Given the description of an element on the screen output the (x, y) to click on. 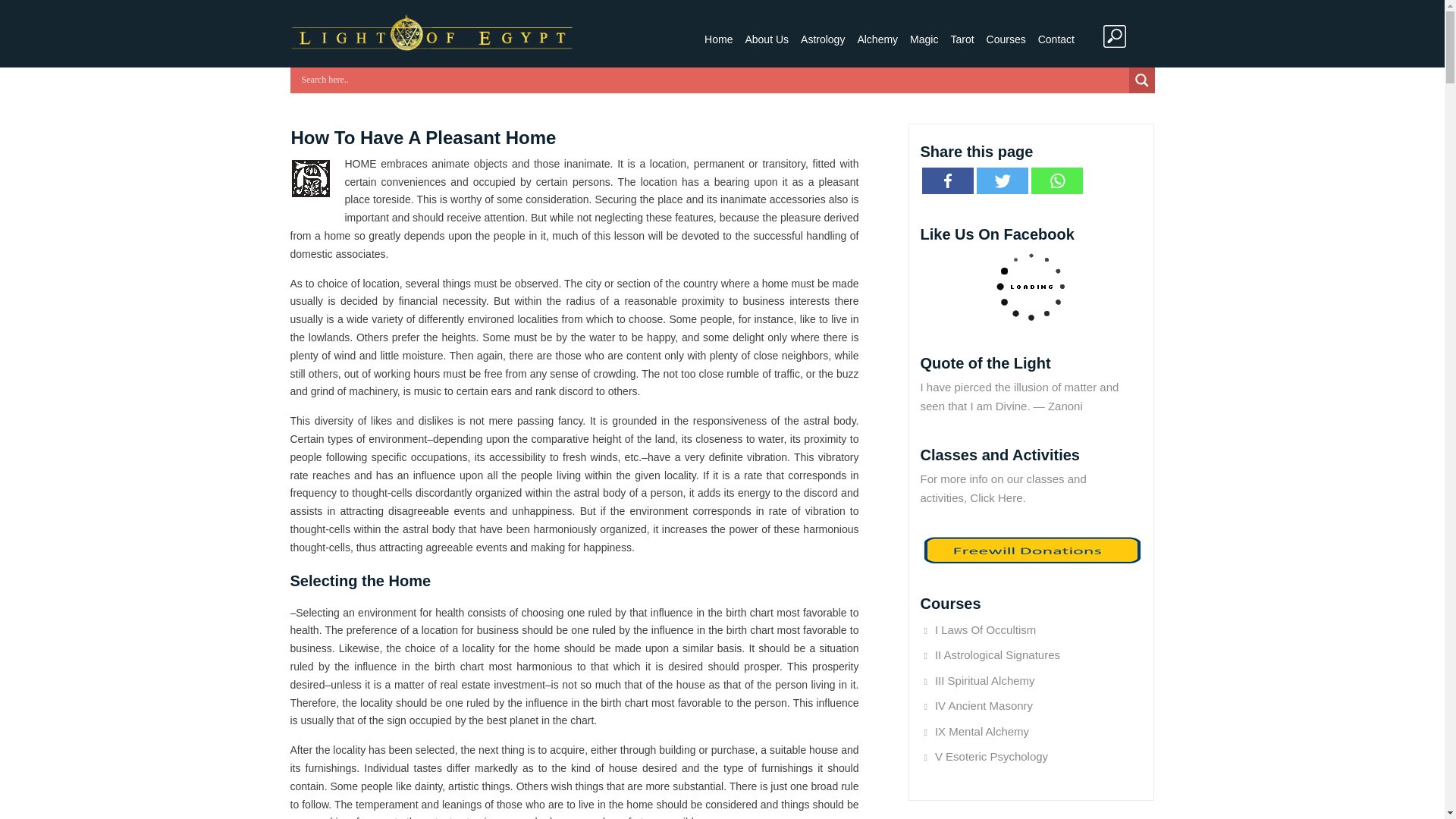
Click Here. (997, 497)
Whatsapp (1056, 180)
III Spiritual Alchemy (984, 679)
I Laws Of Occultism (984, 629)
Facebook (947, 180)
II Astrological Signatures (996, 654)
Alchemy (877, 39)
About Us (766, 39)
IV Ancient Masonry (983, 705)
VI The Sacred Tarot (984, 780)
